Given the description of an element on the screen output the (x, y) to click on. 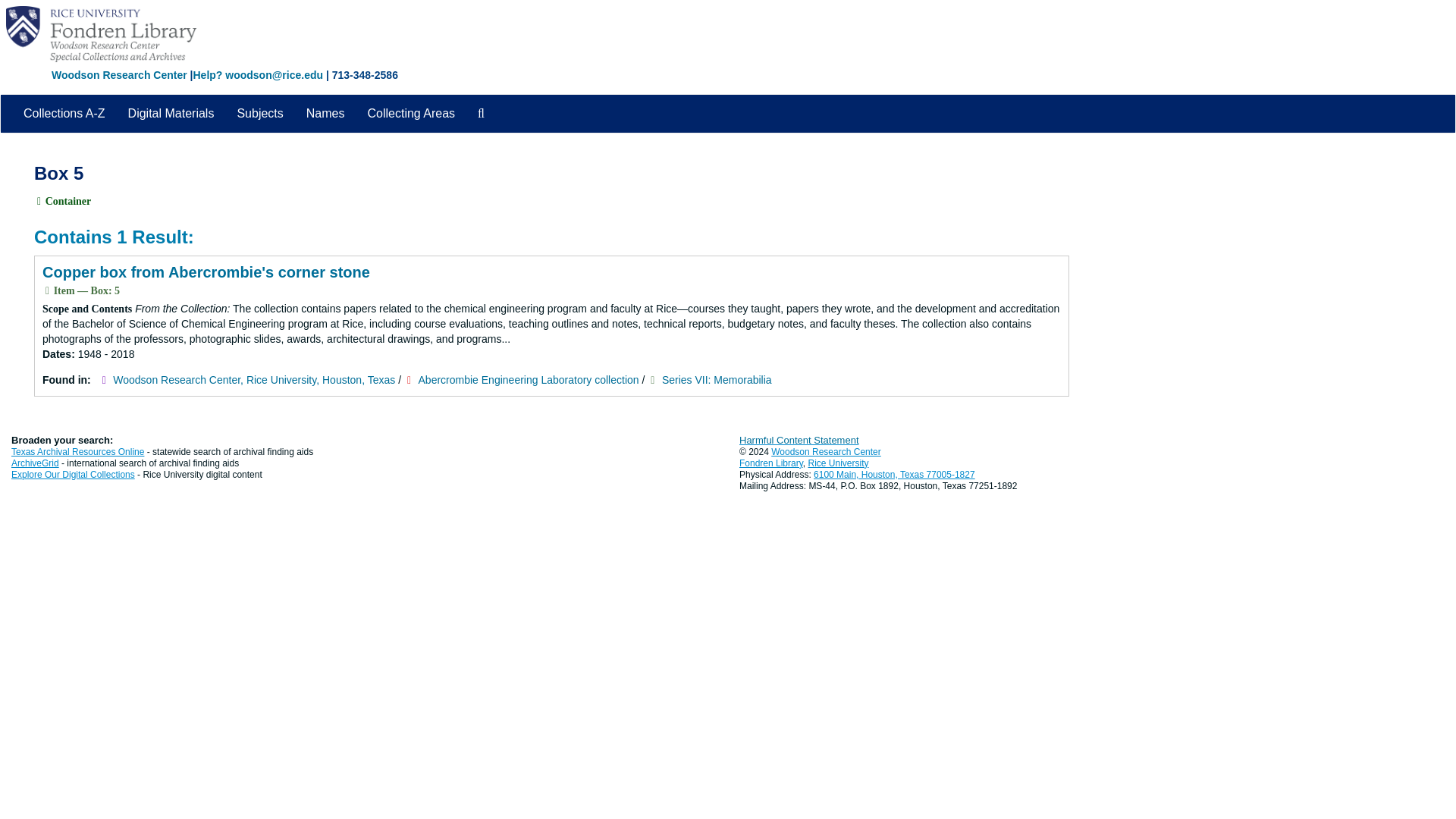
Abercrombie Engineering Laboratory collection (529, 379)
Page Actions (1139, 155)
Digital Materials (170, 113)
Woodson Research Center (825, 451)
Harmful Content Statement (799, 439)
Texas Archival Resources Online (77, 451)
Series VII: Memorabilia (716, 379)
Collecting Areas (410, 113)
ArchiveGrid (35, 462)
Woodson Research Center (118, 74)
